Given the description of an element on the screen output the (x, y) to click on. 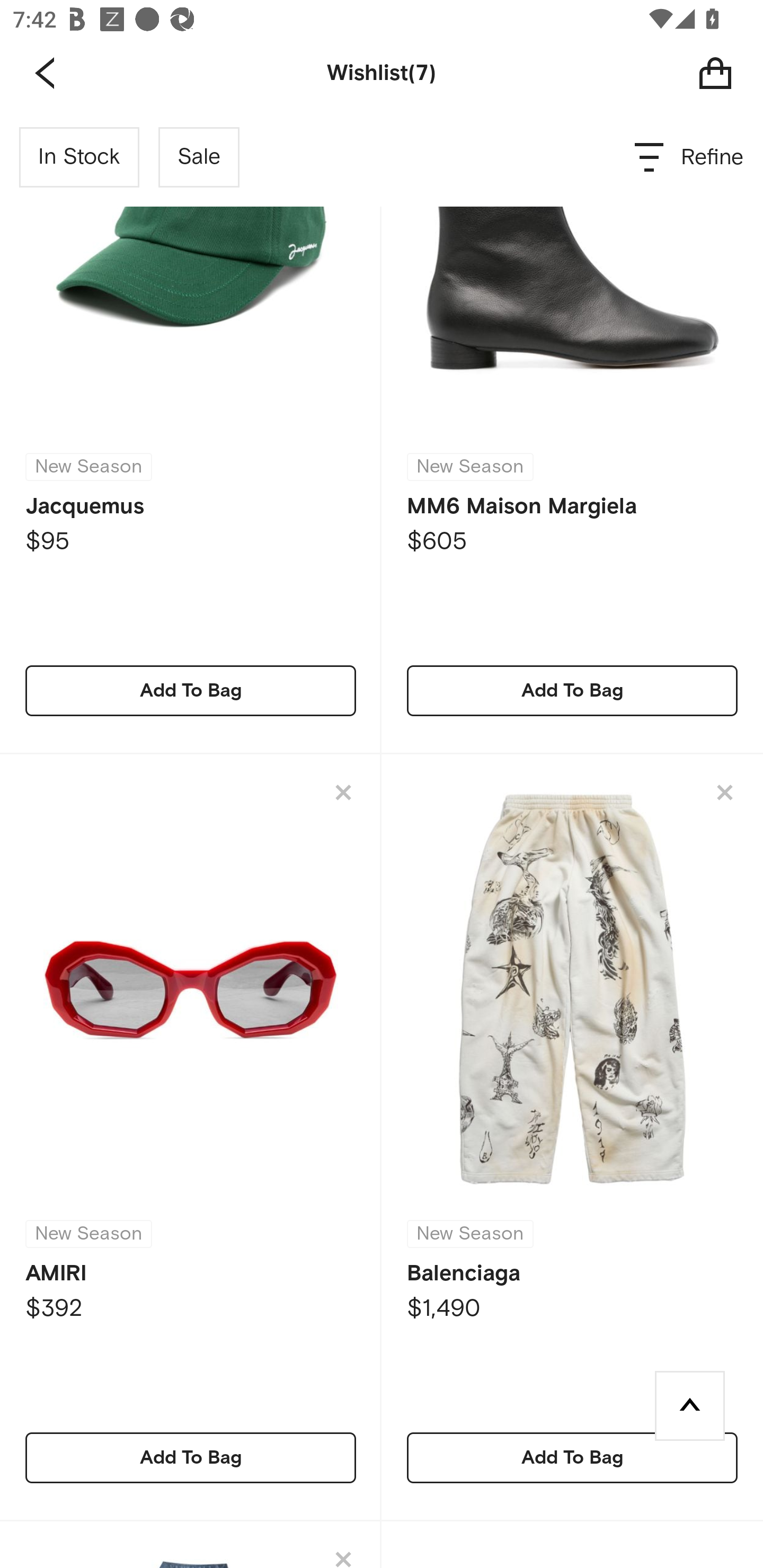
New Season Jacquemus $95 Add To Bag (190, 431)
New Season MM6 Maison Margiela $605 Add To Bag (572, 431)
In Stock (79, 157)
Sale (198, 157)
Refine (690, 157)
Add To Bag (190, 690)
Add To Bag (571, 690)
New Season AMIRI $392 Add To Bag (190, 1137)
New Season Balenciaga $1,490 Add To Bag (572, 1137)
Add To Bag (190, 1457)
Add To Bag (571, 1457)
